Given the description of an element on the screen output the (x, y) to click on. 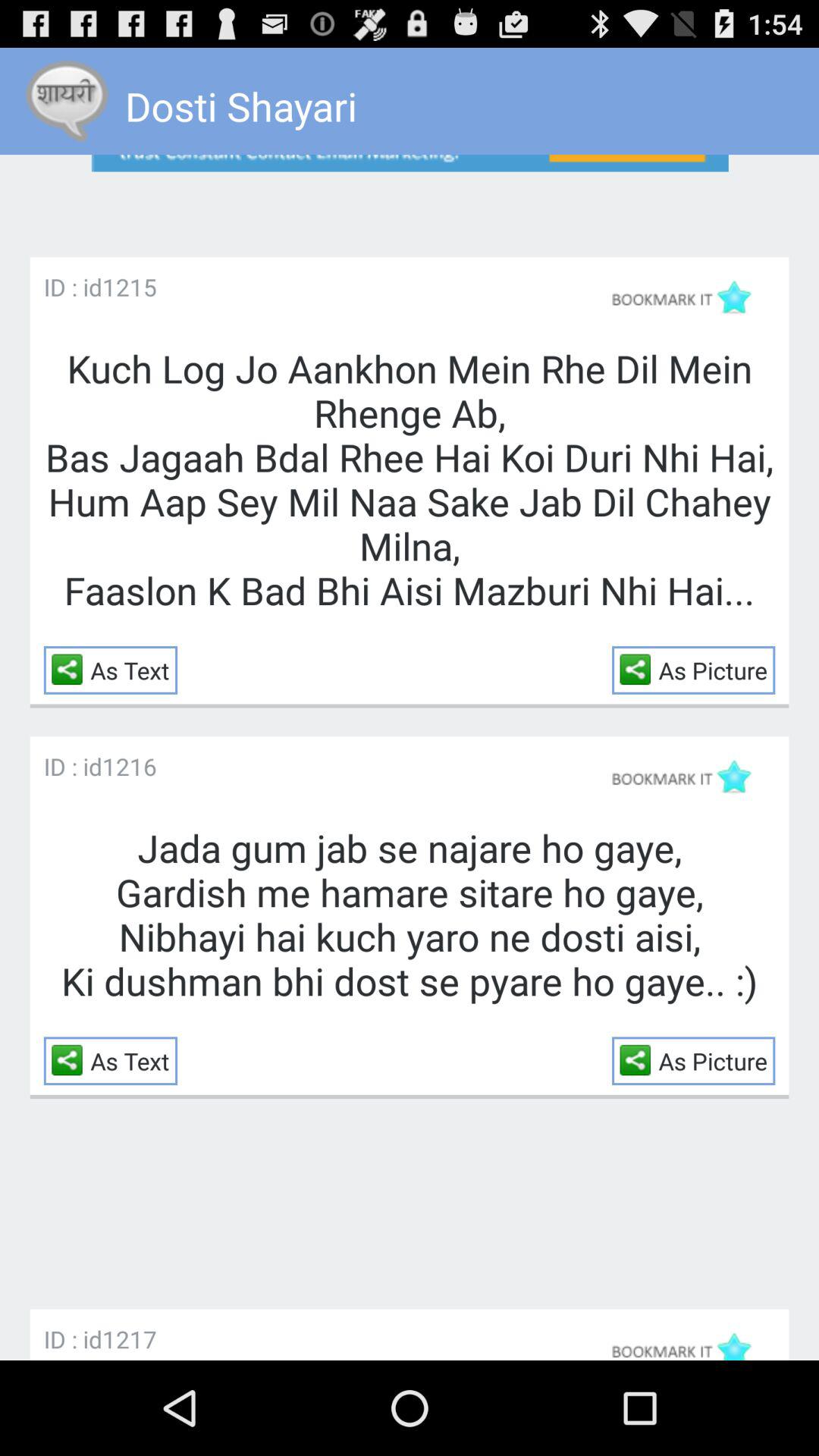
flip to the 1215 (129, 286)
